Given the description of an element on the screen output the (x, y) to click on. 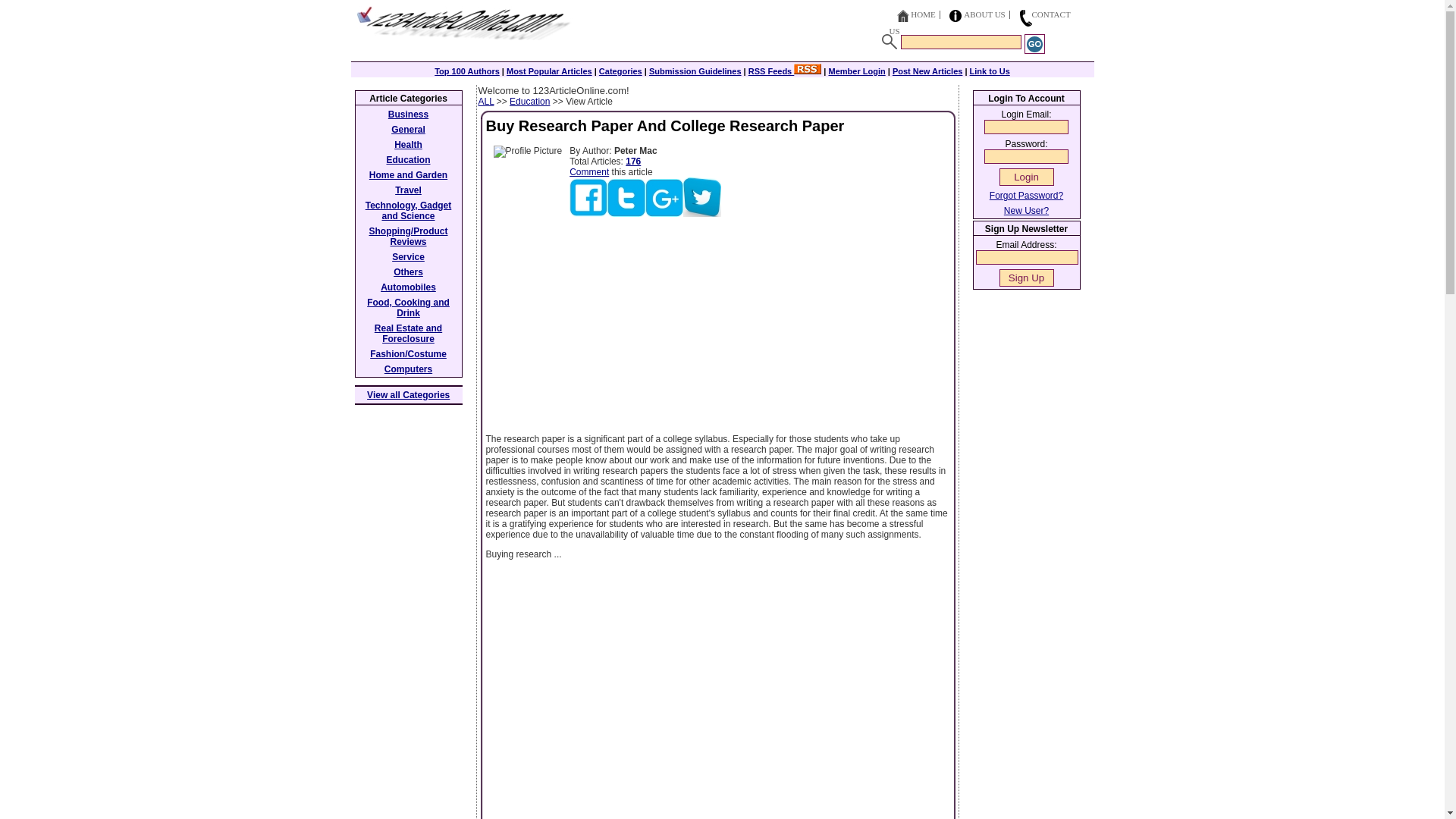
Categories (620, 71)
Comment (588, 172)
ALL (485, 101)
176 (633, 161)
Education (529, 101)
Most Popular Articles (549, 71)
Submission Guidelines (695, 71)
Top 100 Authors (466, 71)
